Given the description of an element on the screen output the (x, y) to click on. 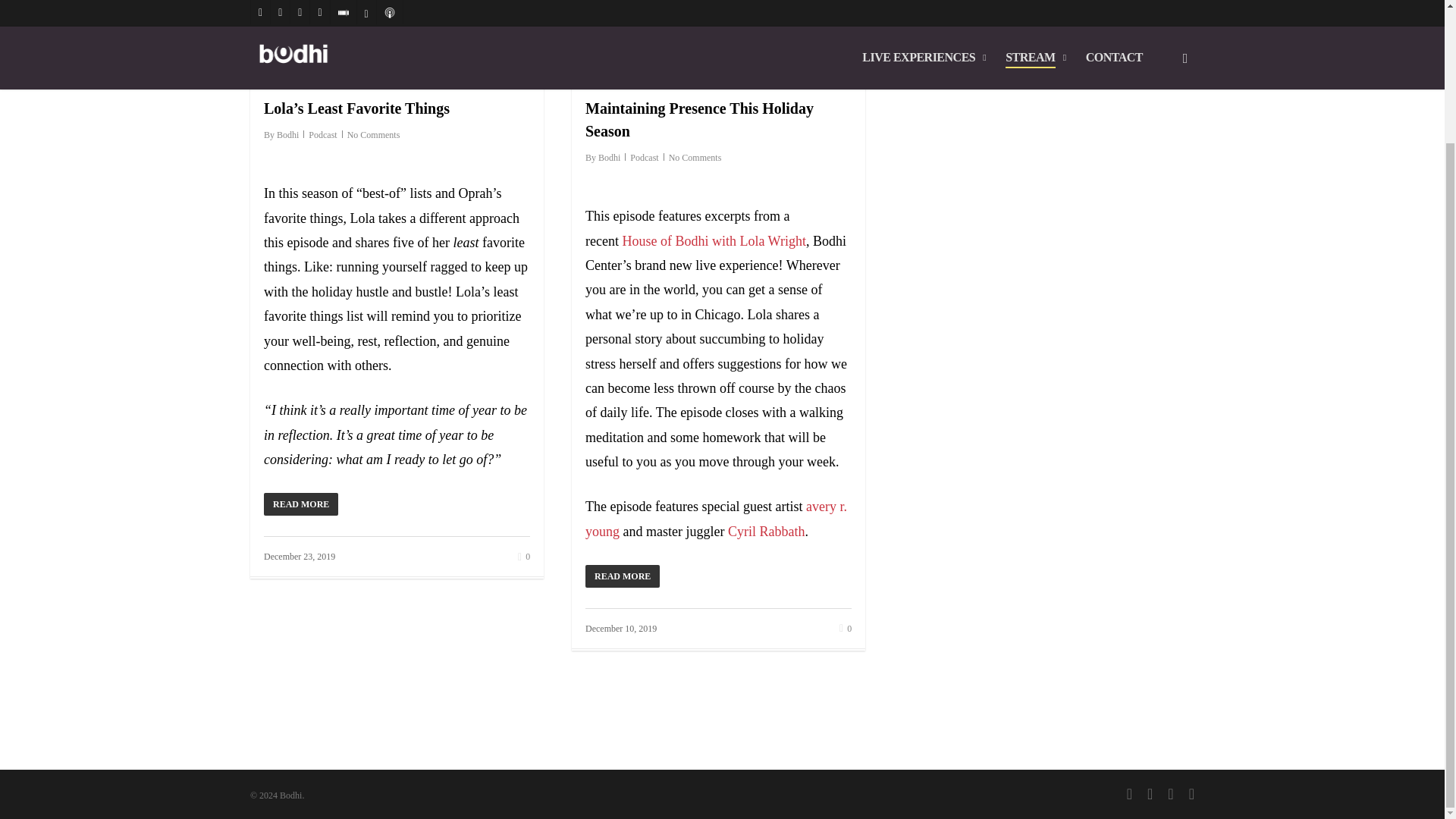
0 (523, 555)
No Comments (695, 157)
Maintaining Presence This Holiday Season (699, 119)
Bodhi (609, 157)
Podcast (322, 134)
Love this (845, 627)
House of Bodhi with Lola Wright (713, 240)
Bodhi (287, 134)
READ MORE (396, 503)
Love this (523, 555)
No Comments (373, 134)
Posts by Bodhi (609, 157)
avery r. young (716, 518)
Posts by Bodhi (287, 134)
READ MORE (718, 575)
